Given the description of an element on the screen output the (x, y) to click on. 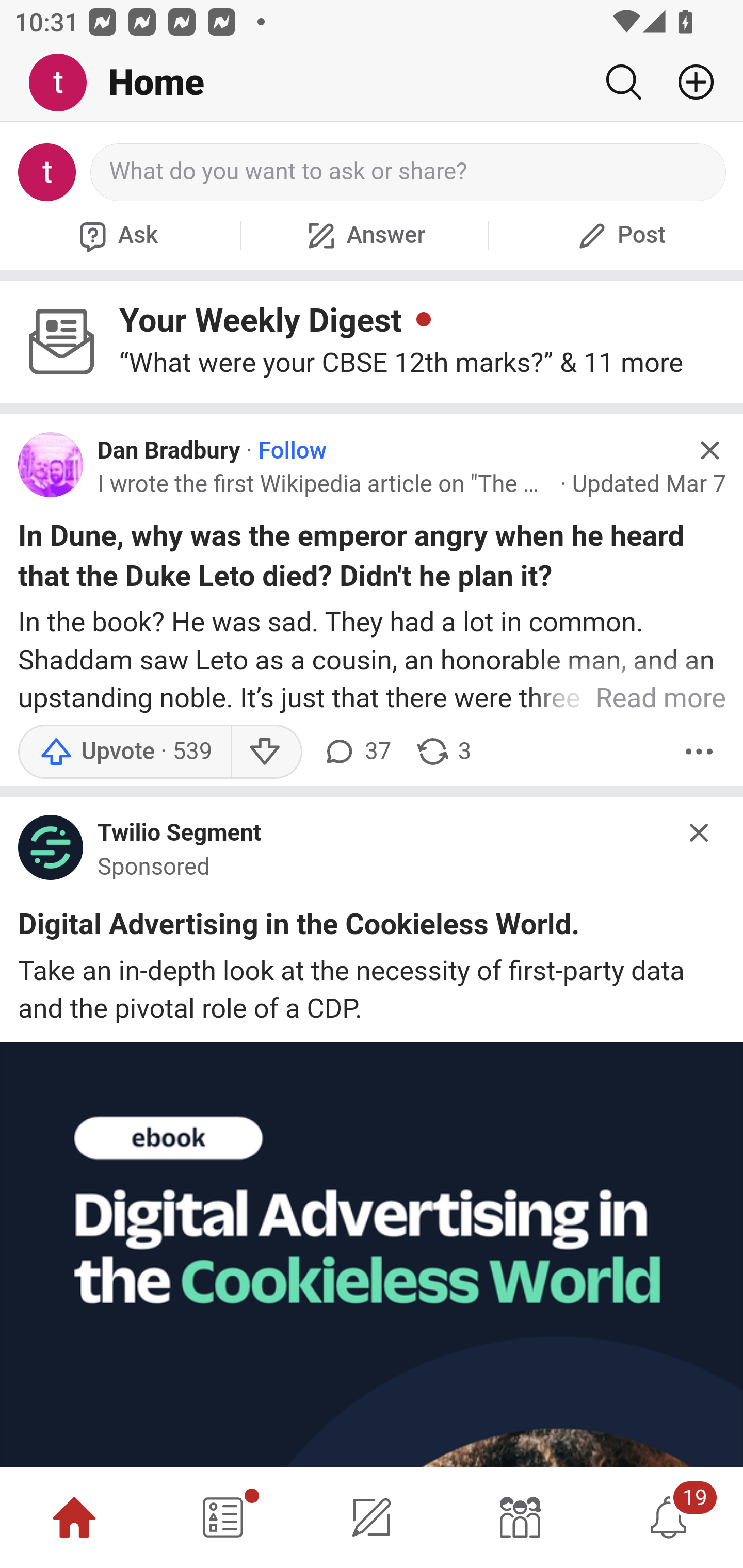
Me Home Search Add (371, 82)
Me (64, 83)
Search (623, 82)
Add (688, 82)
19 (668, 1517)
